Given the description of an element on the screen output the (x, y) to click on. 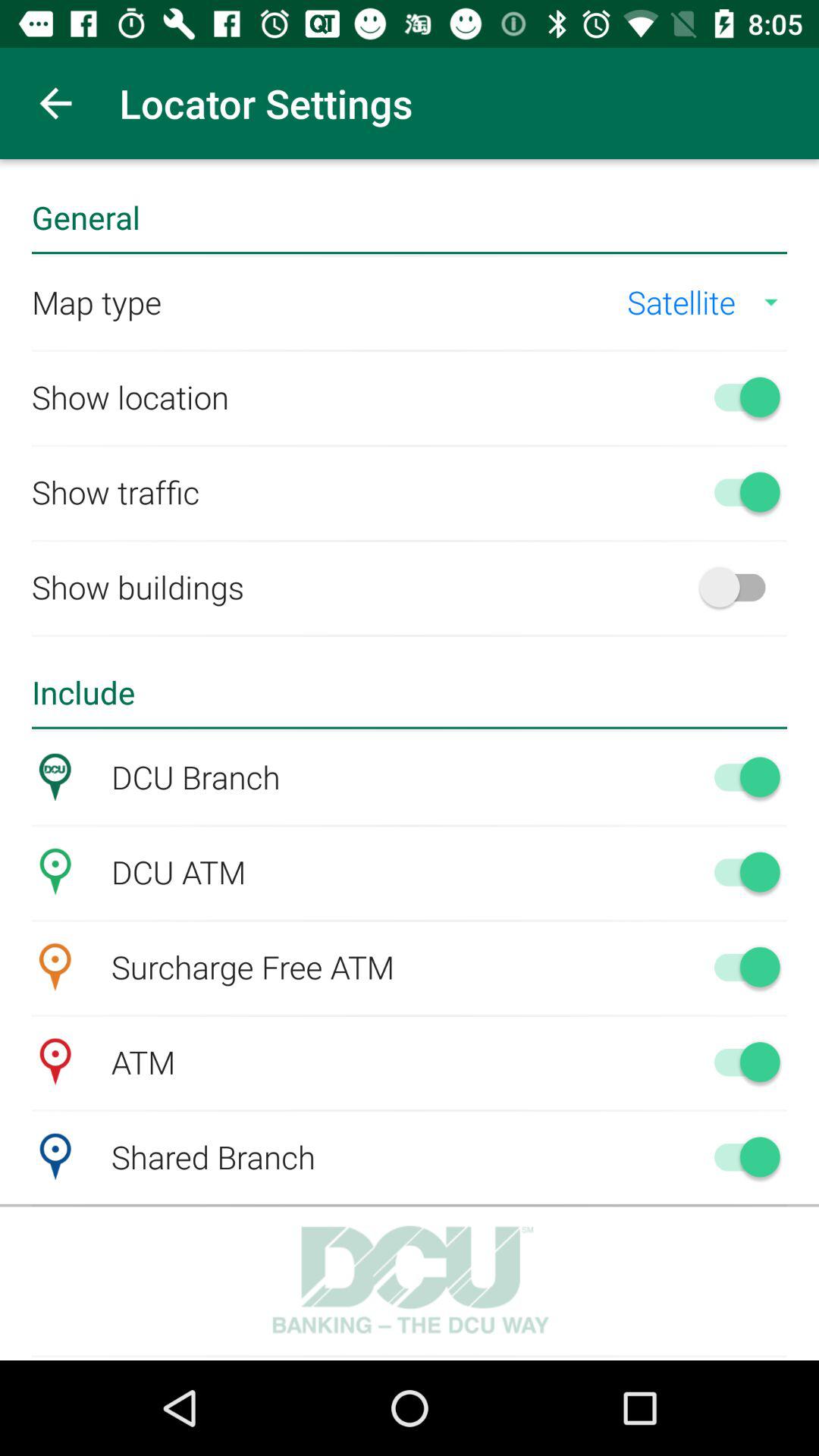
select options (739, 776)
